Given the description of an element on the screen output the (x, y) to click on. 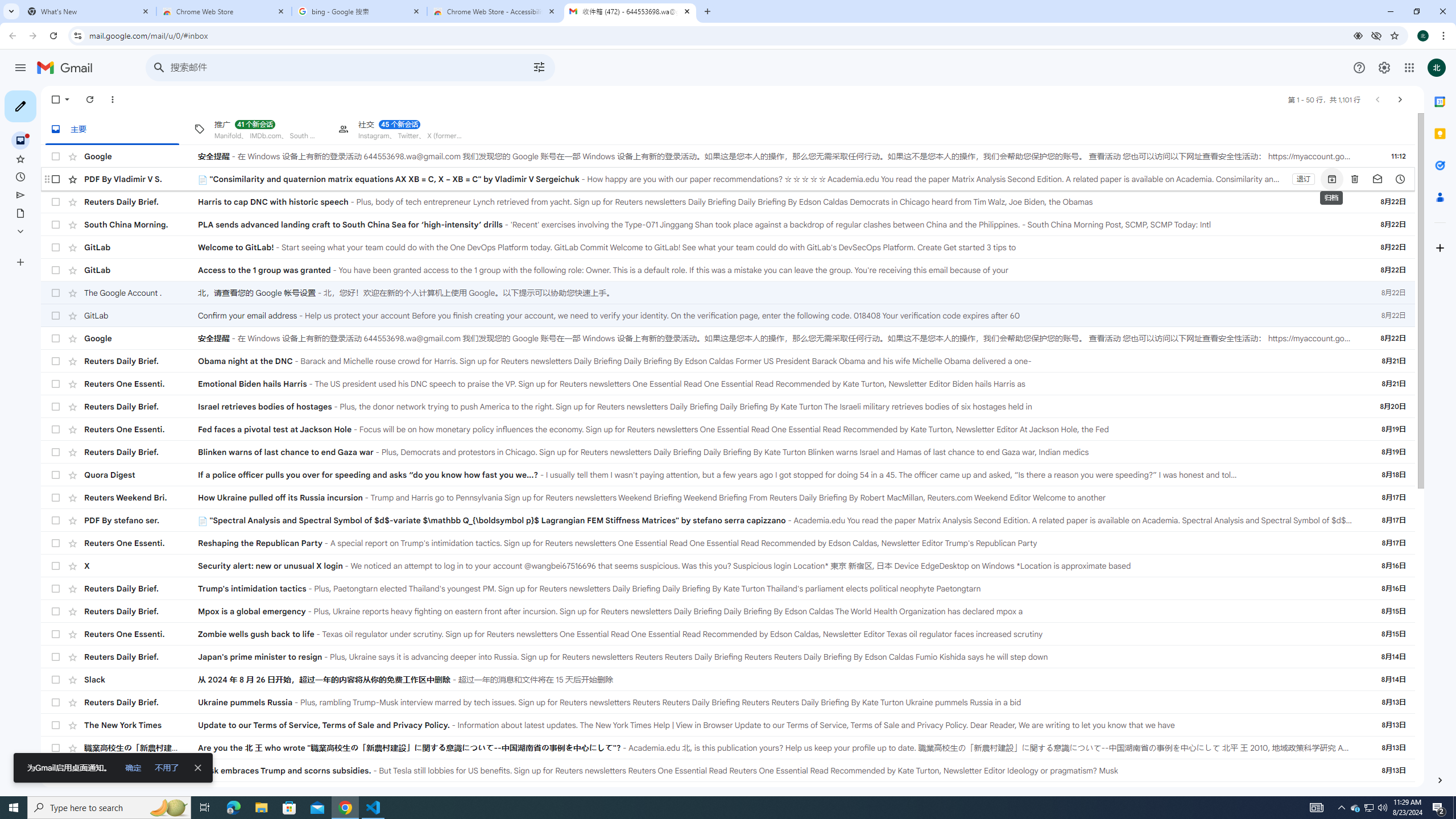
PDF By stefano ser. (141, 519)
The Google Account . (141, 292)
